Given the description of an element on the screen output the (x, y) to click on. 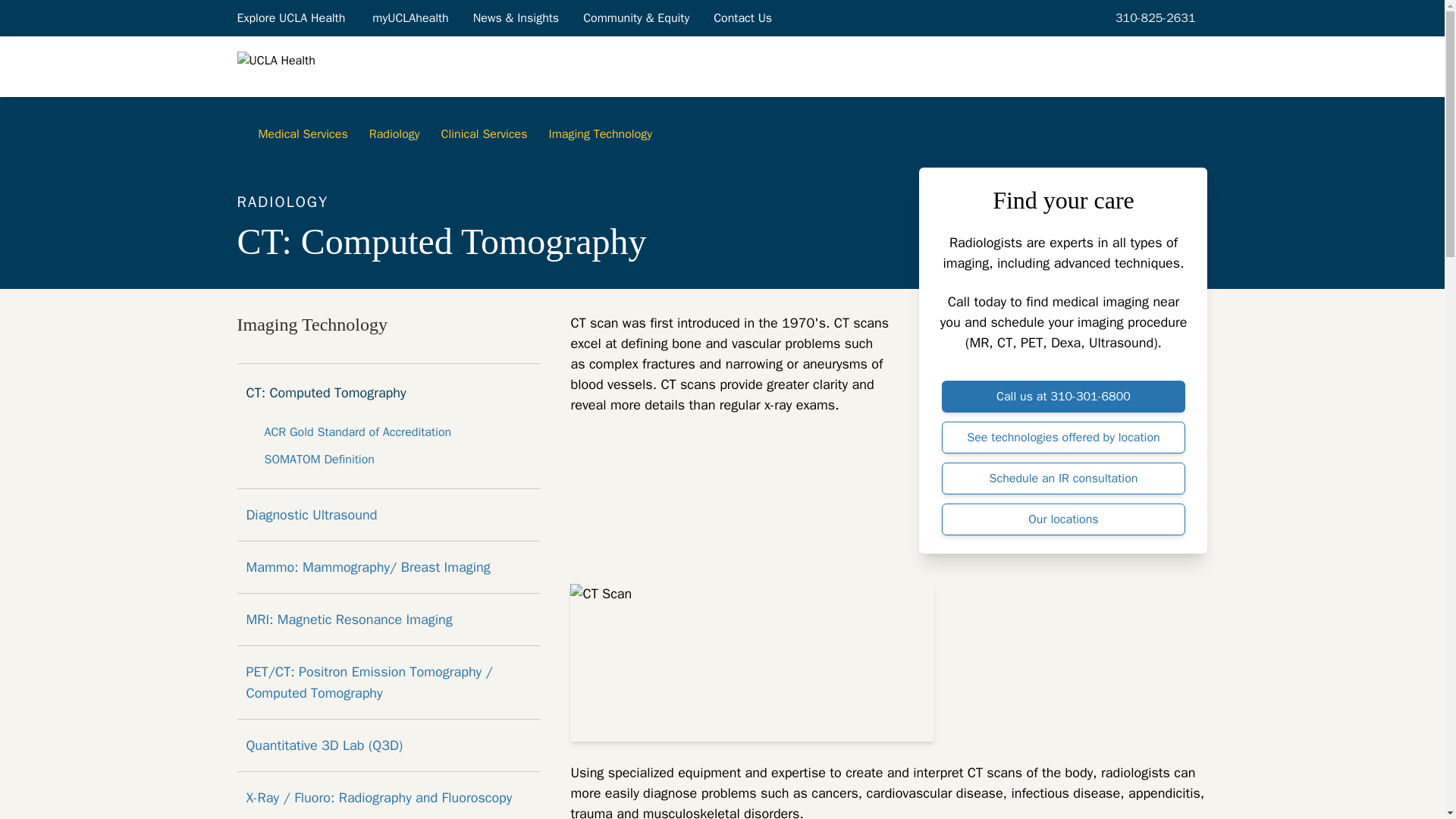
Contact Us (742, 17)
310-825-2631 (1152, 17)
Explore UCLA Health (291, 17)
myUCLAhealth (409, 17)
myUCLAhealth Login. (409, 17)
